Given the description of an element on the screen output the (x, y) to click on. 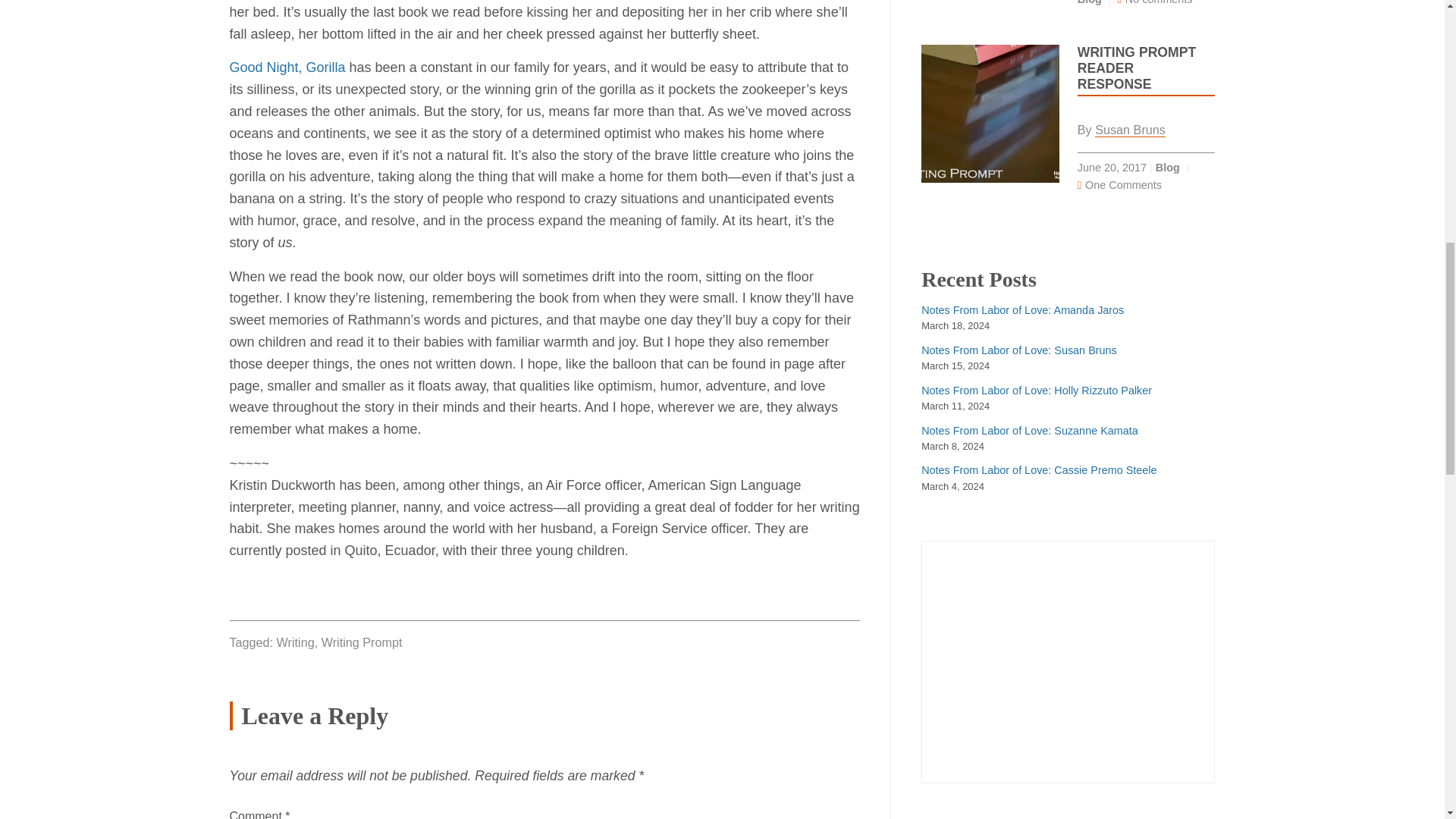
Writing Prompt Reader Response (1136, 68)
Good Night, Gorilla (286, 67)
Writing (295, 642)
Writing Prompt (362, 642)
